Given the description of an element on the screen output the (x, y) to click on. 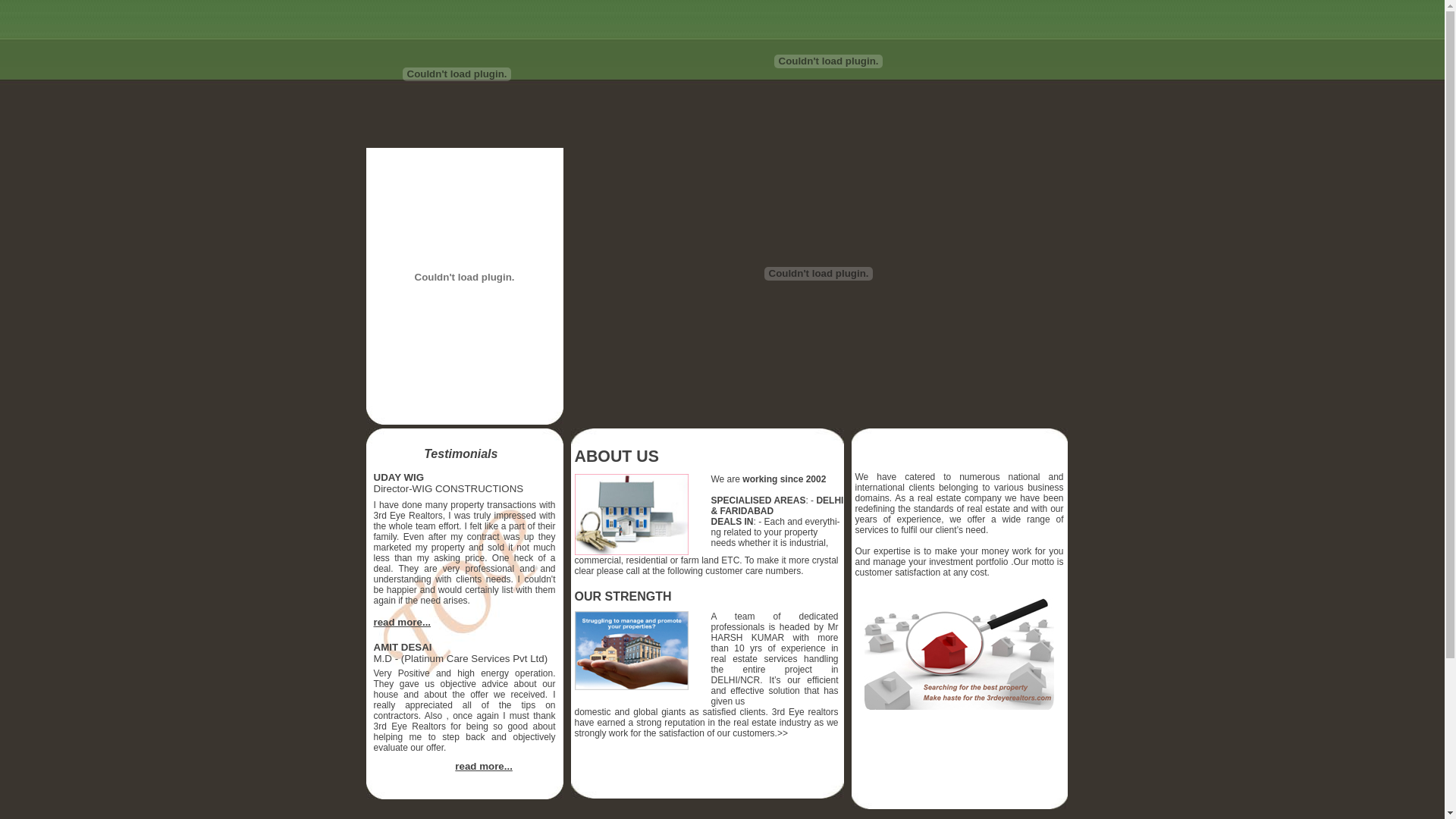
read more... Element type: text (401, 621)
read more... Element type: text (483, 765)
